Given the description of an element on the screen output the (x, y) to click on. 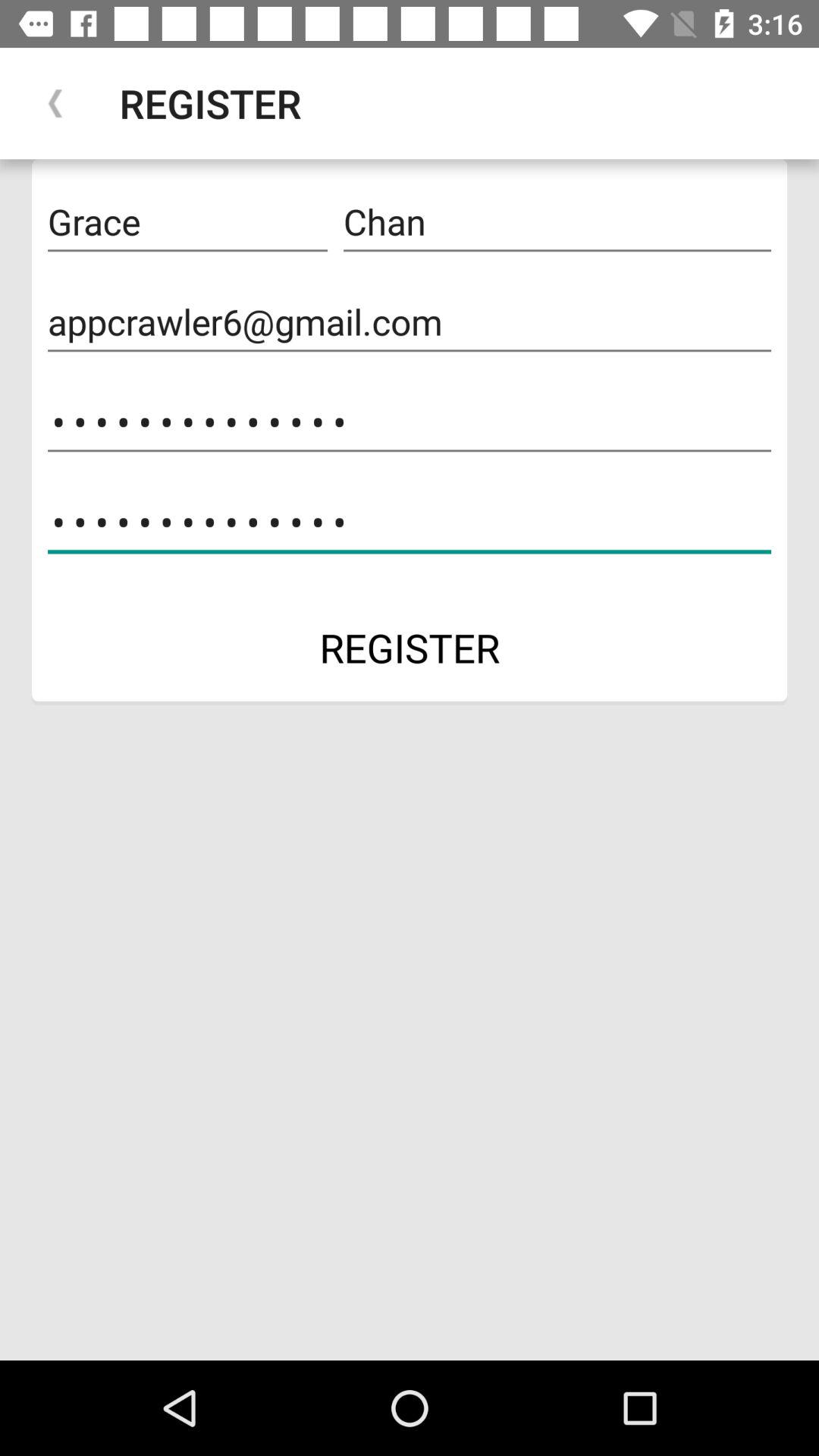
click item to the left of register (55, 103)
